Given the description of an element on the screen output the (x, y) to click on. 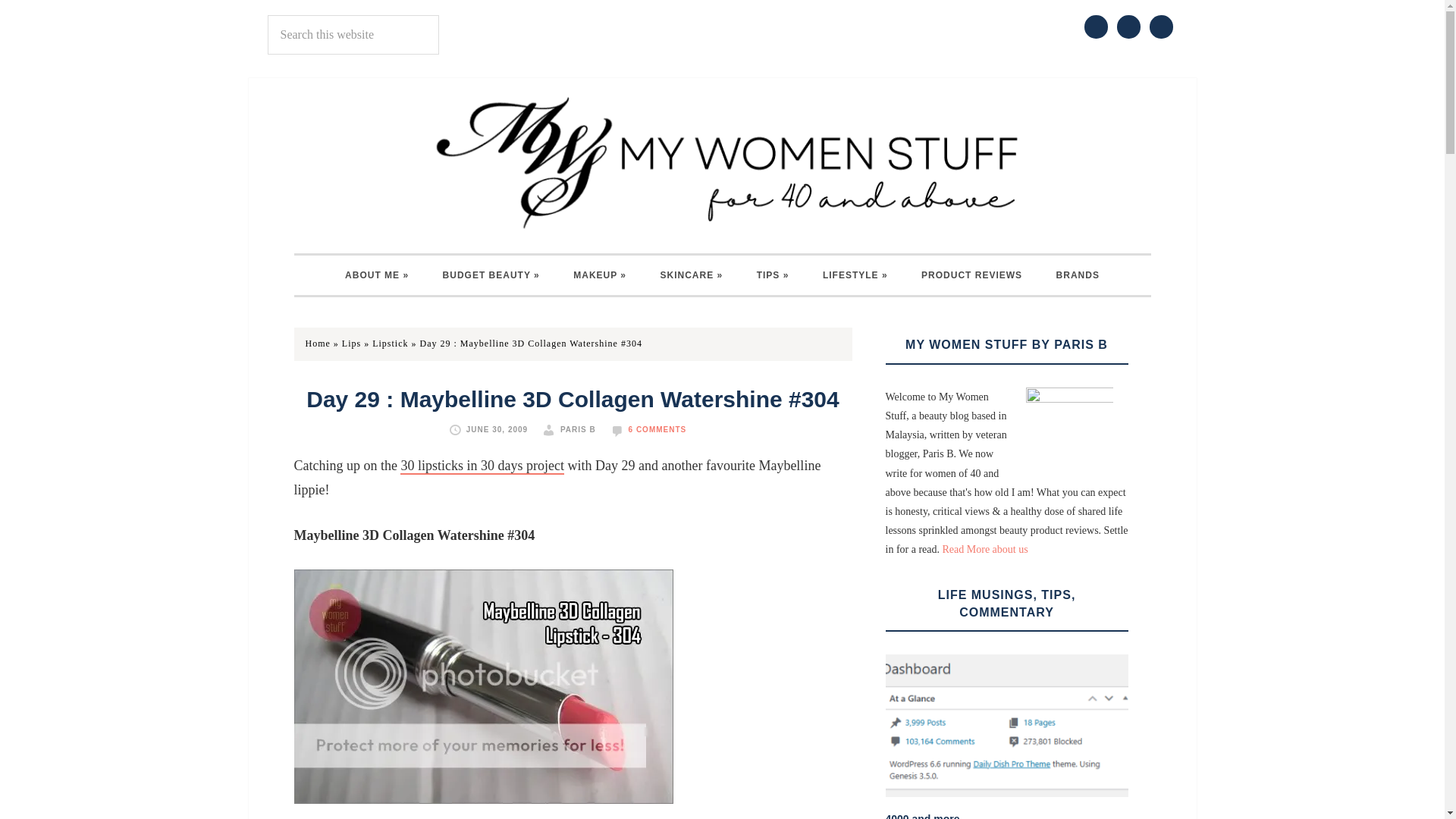
Click for all Skincare Reiews (691, 274)
About Me (376, 274)
Beauty on a Budget (491, 274)
Tips and Tricks (773, 274)
My Women Stuff (722, 161)
